Given the description of an element on the screen output the (x, y) to click on. 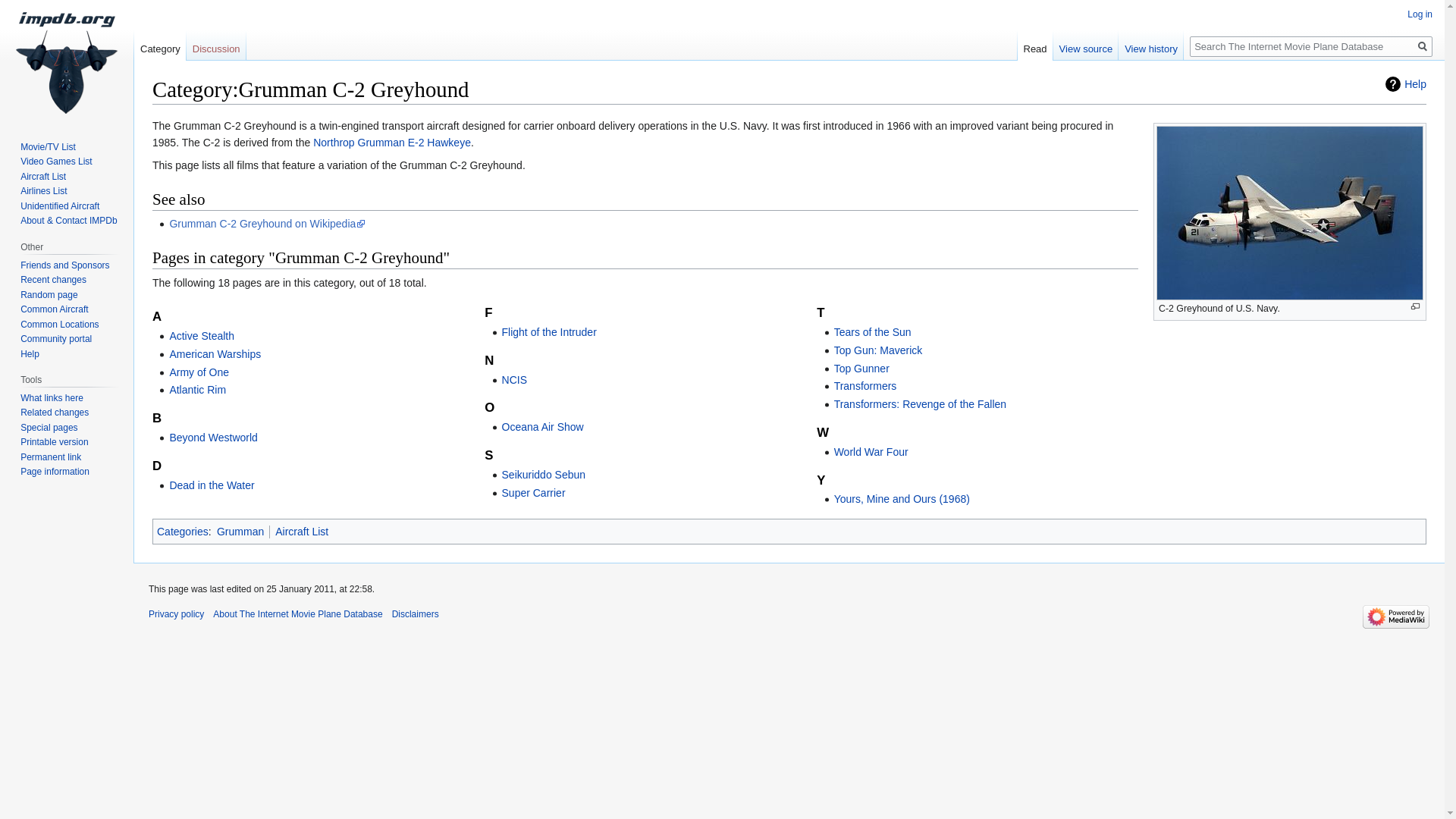
Active Stealth (201, 336)
Search (1422, 46)
Search (1422, 46)
Grumman (239, 531)
American Warships (214, 354)
American Warships (214, 354)
Beyond Westworld (212, 437)
Top Gunner (861, 368)
Search (1422, 46)
Flight of the Intruder (549, 331)
Beyond Westworld (212, 437)
Read (1034, 45)
Seikuriddo Sebun (544, 474)
Categories (182, 531)
